Given the description of an element on the screen output the (x, y) to click on. 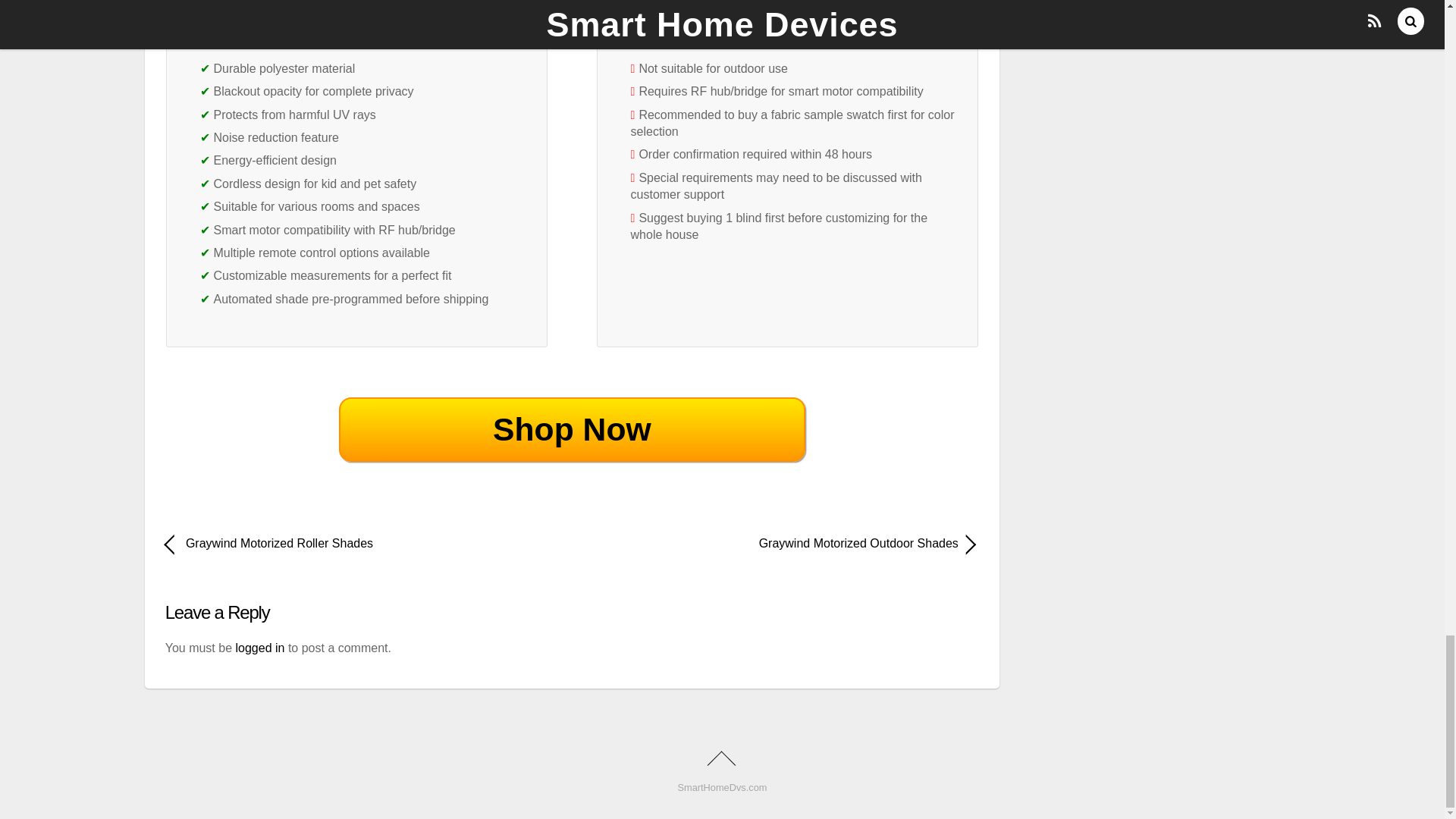
Shop Now (572, 429)
logged in (258, 647)
